Given the description of an element on the screen output the (x, y) to click on. 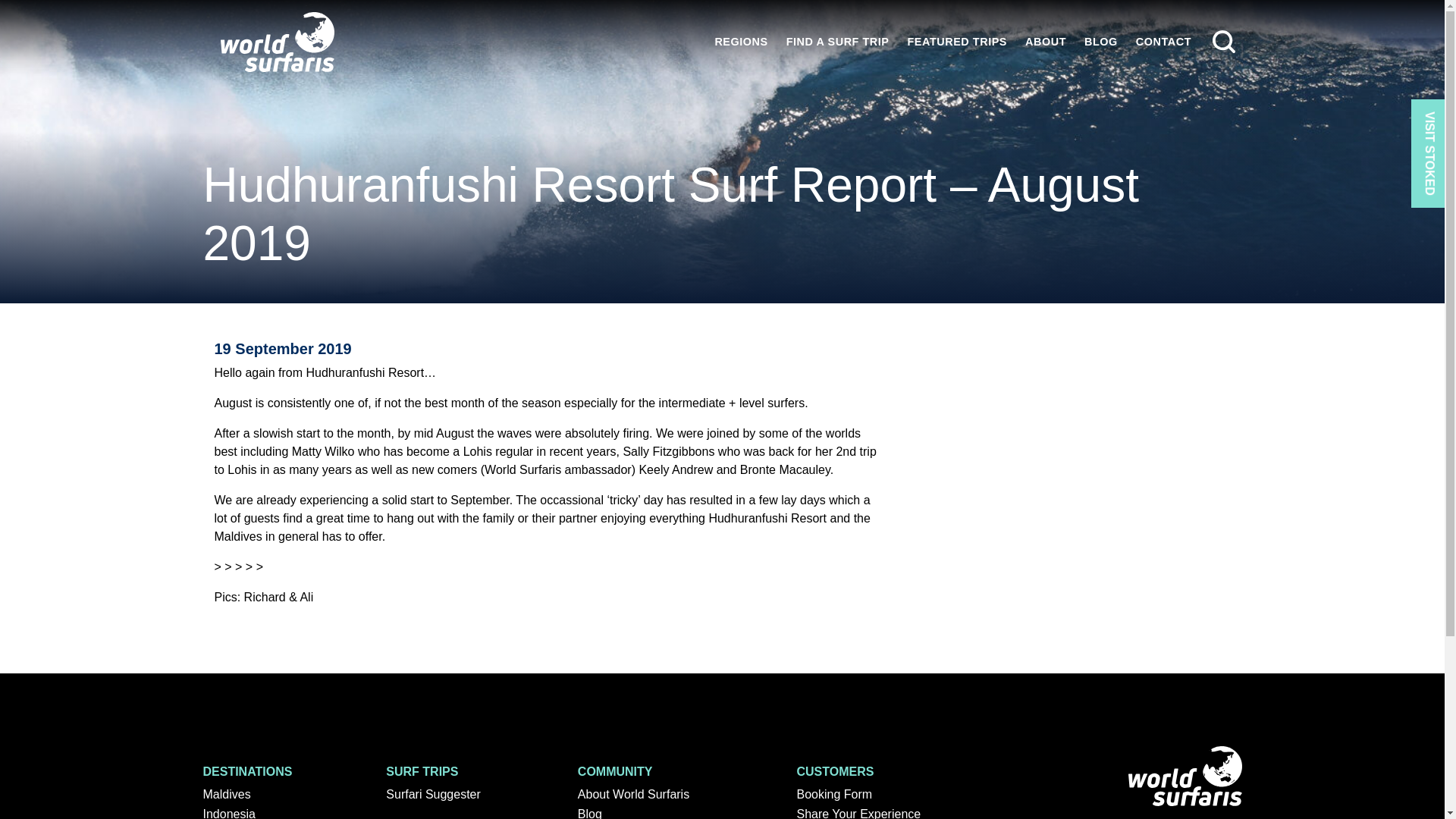
FEATURED TRIPS (957, 41)
REGIONS (740, 41)
World Surfaris (277, 42)
FIND A SURF TRIP (837, 41)
